Given the description of an element on the screen output the (x, y) to click on. 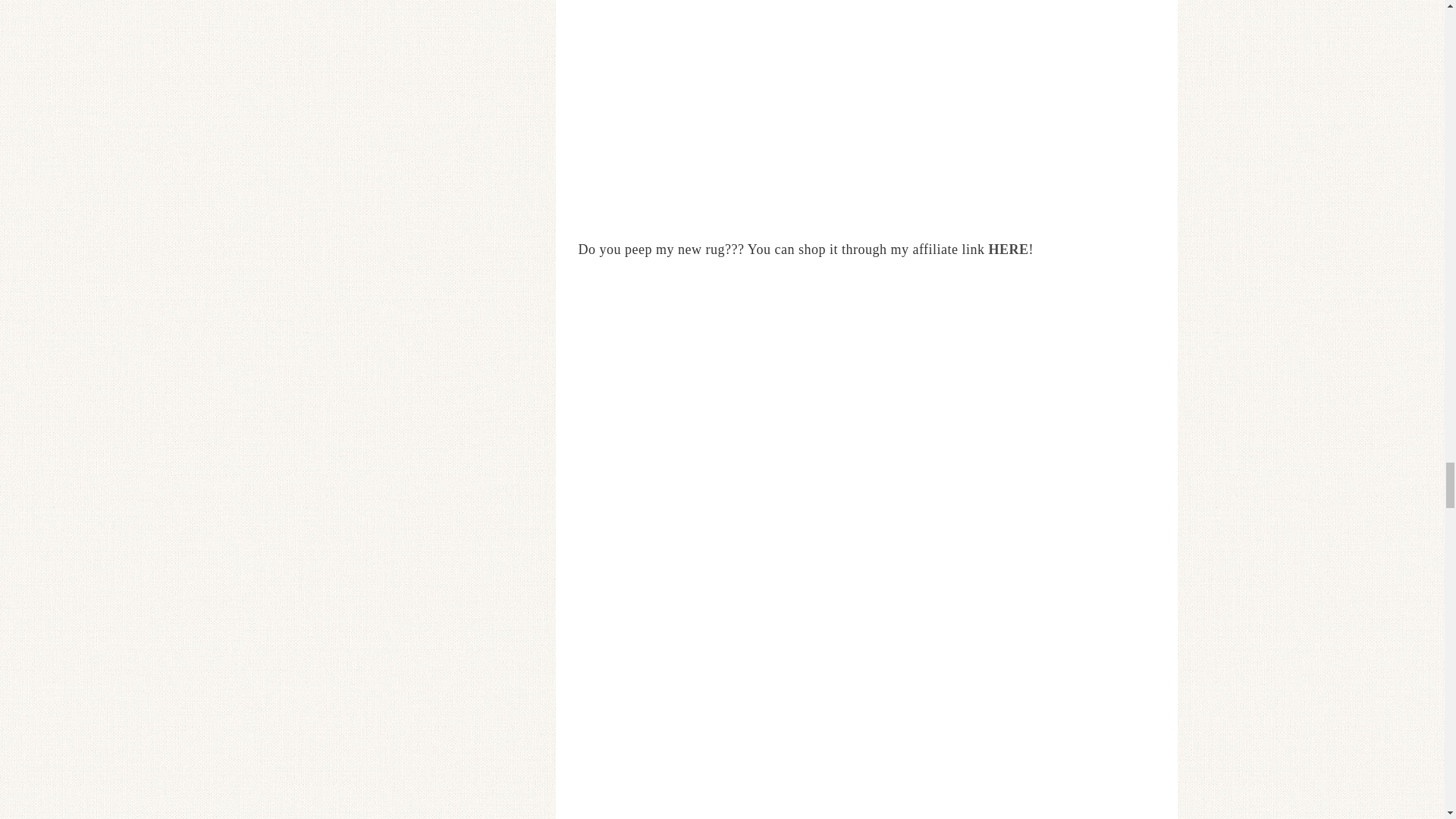
HERE (1008, 249)
